Given the description of an element on the screen output the (x, y) to click on. 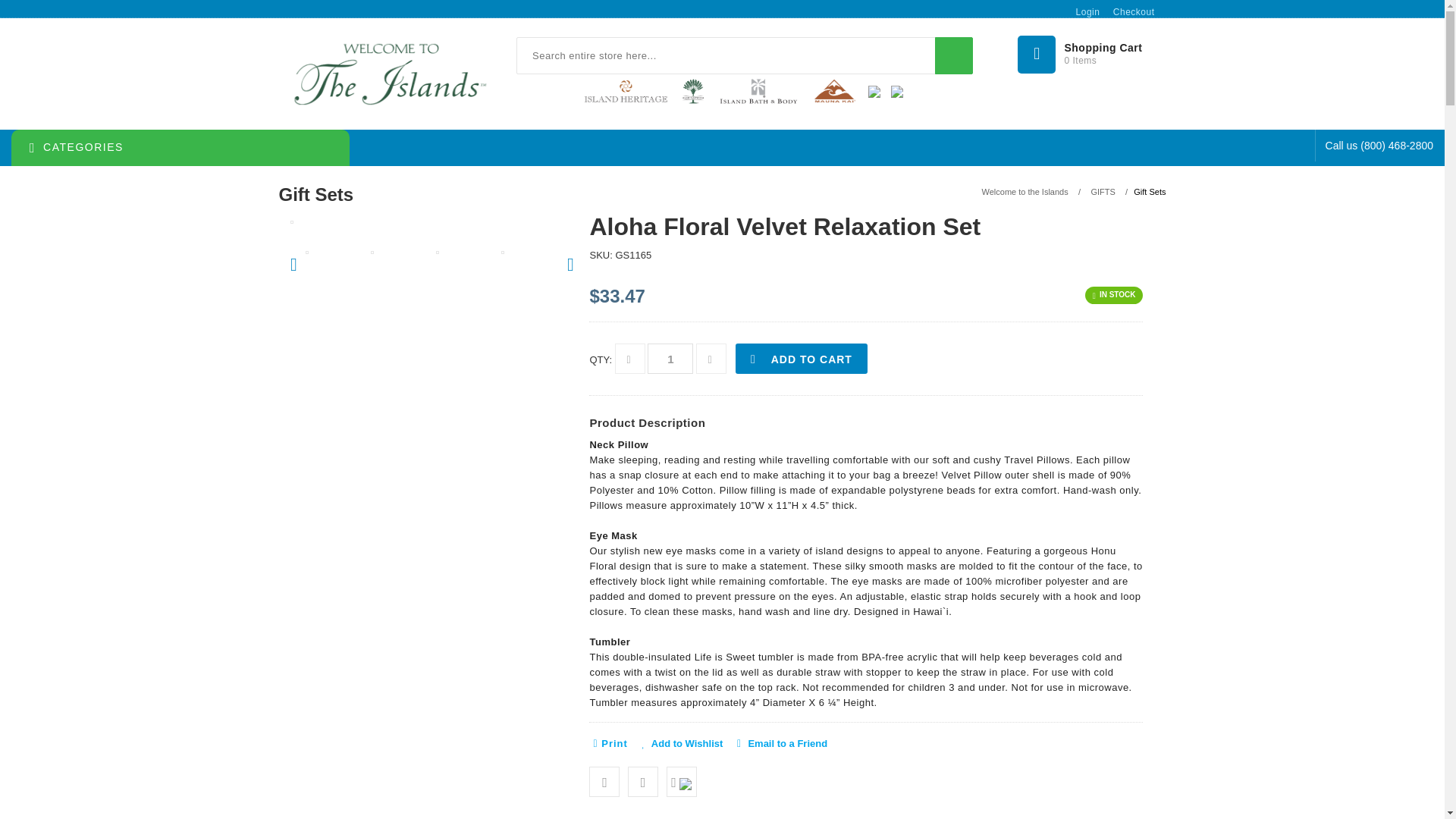
Checkout (1128, 11)
Login (1082, 11)
Welcome to the Islands (389, 73)
1 (670, 358)
Checkout (1091, 51)
Search (1128, 11)
